Given the description of an element on the screen output the (x, y) to click on. 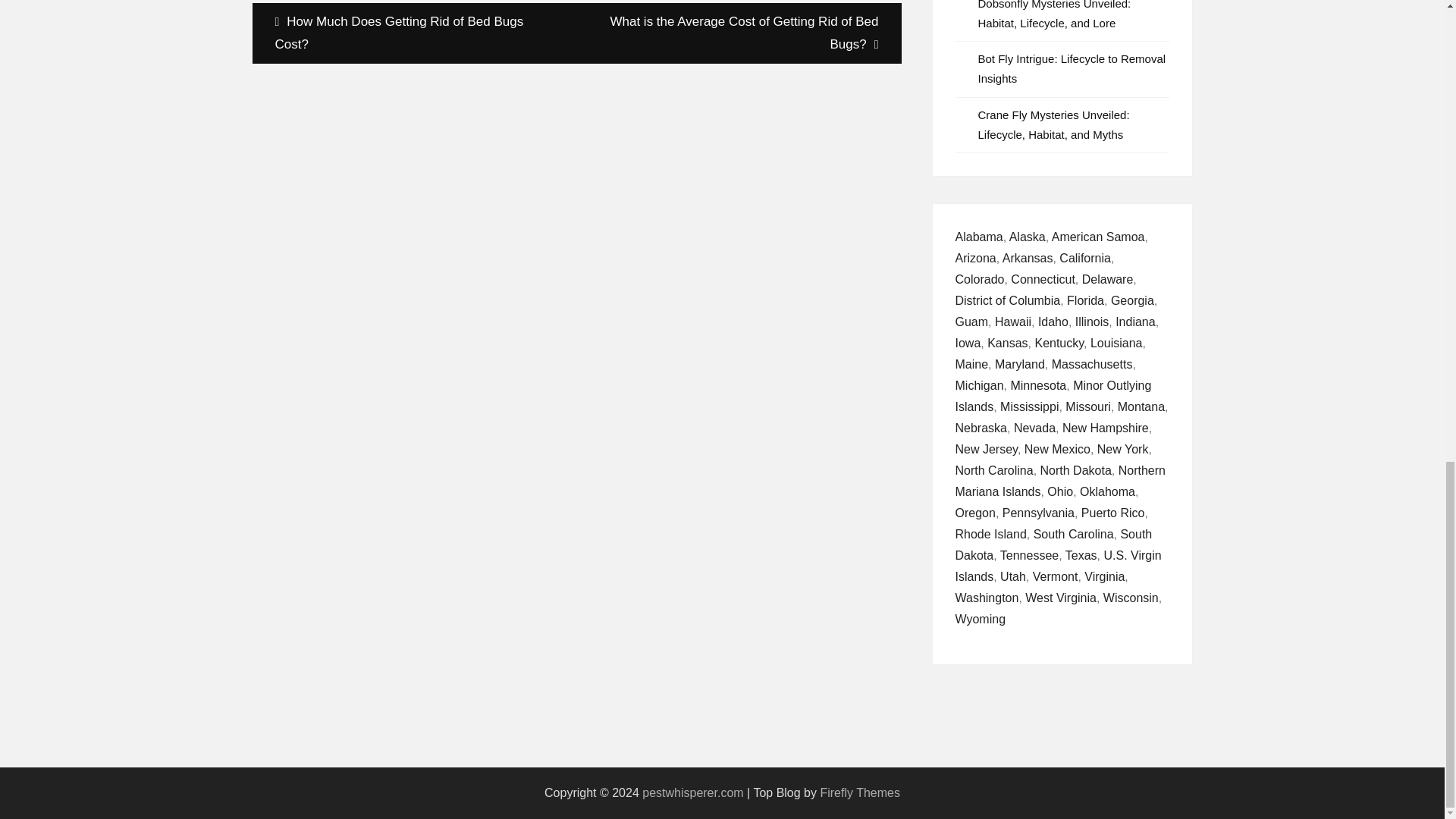
How Much Does Getting Rid of Bed Bugs Cost? (413, 33)
Bot Fly Intrigue: Lifecycle to Removal Insights (1072, 68)
Dobsonfly Mysteries Unveiled: Habitat, Lifecycle, and Lore (1054, 14)
Crane Fly Mysteries Unveiled: Lifecycle, Habitat, and Myths (1053, 124)
What is the Average Cost of Getting Rid of Bed Bugs? (738, 33)
